Given the description of an element on the screen output the (x, y) to click on. 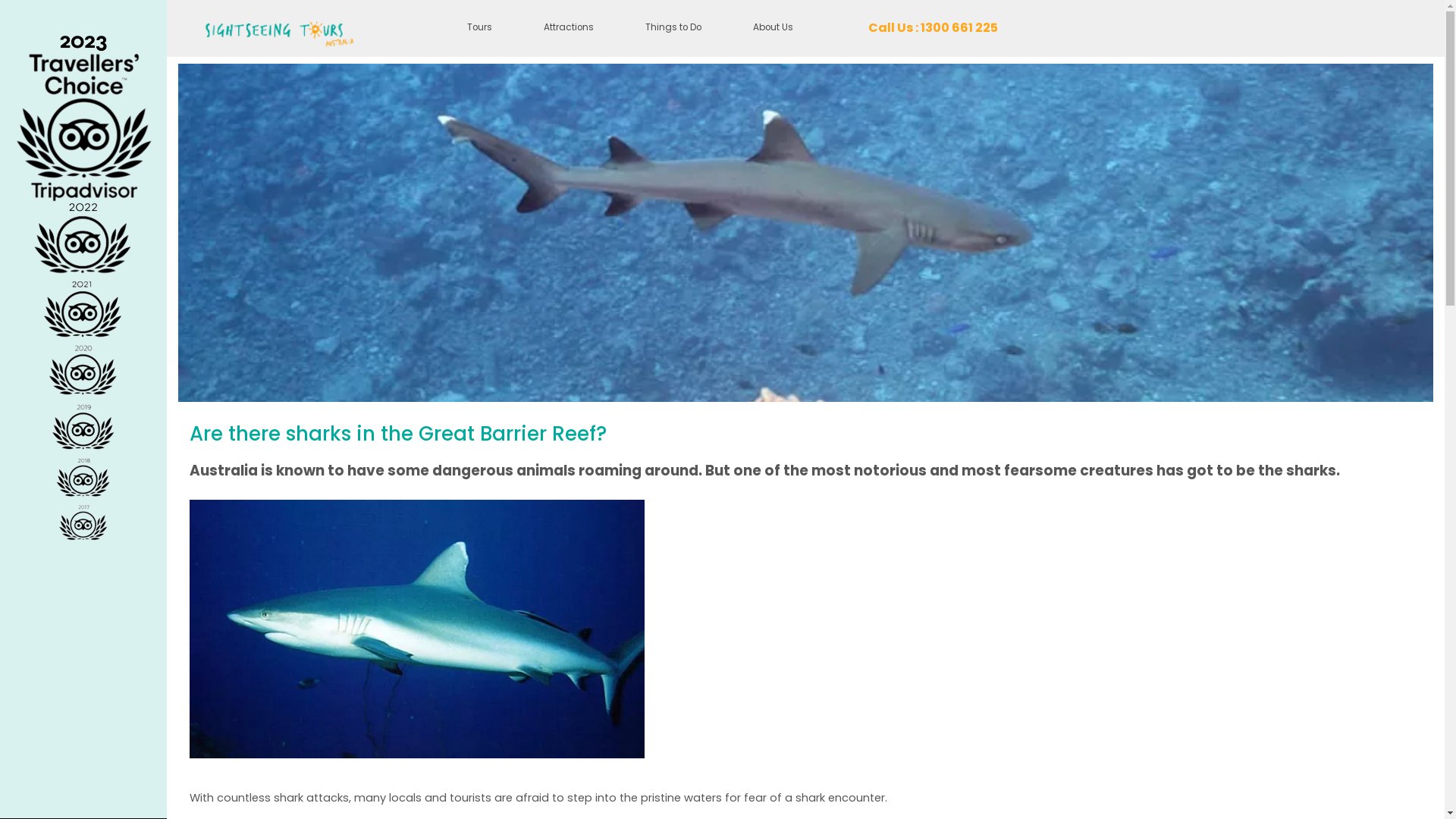
Attractions Element type: text (568, 28)
About Us Element type: text (773, 28)
Tours Element type: text (479, 28)
Call Us : 1300 661 225 Element type: text (932, 28)
Things to Do Element type: text (673, 28)
